Given the description of an element on the screen output the (x, y) to click on. 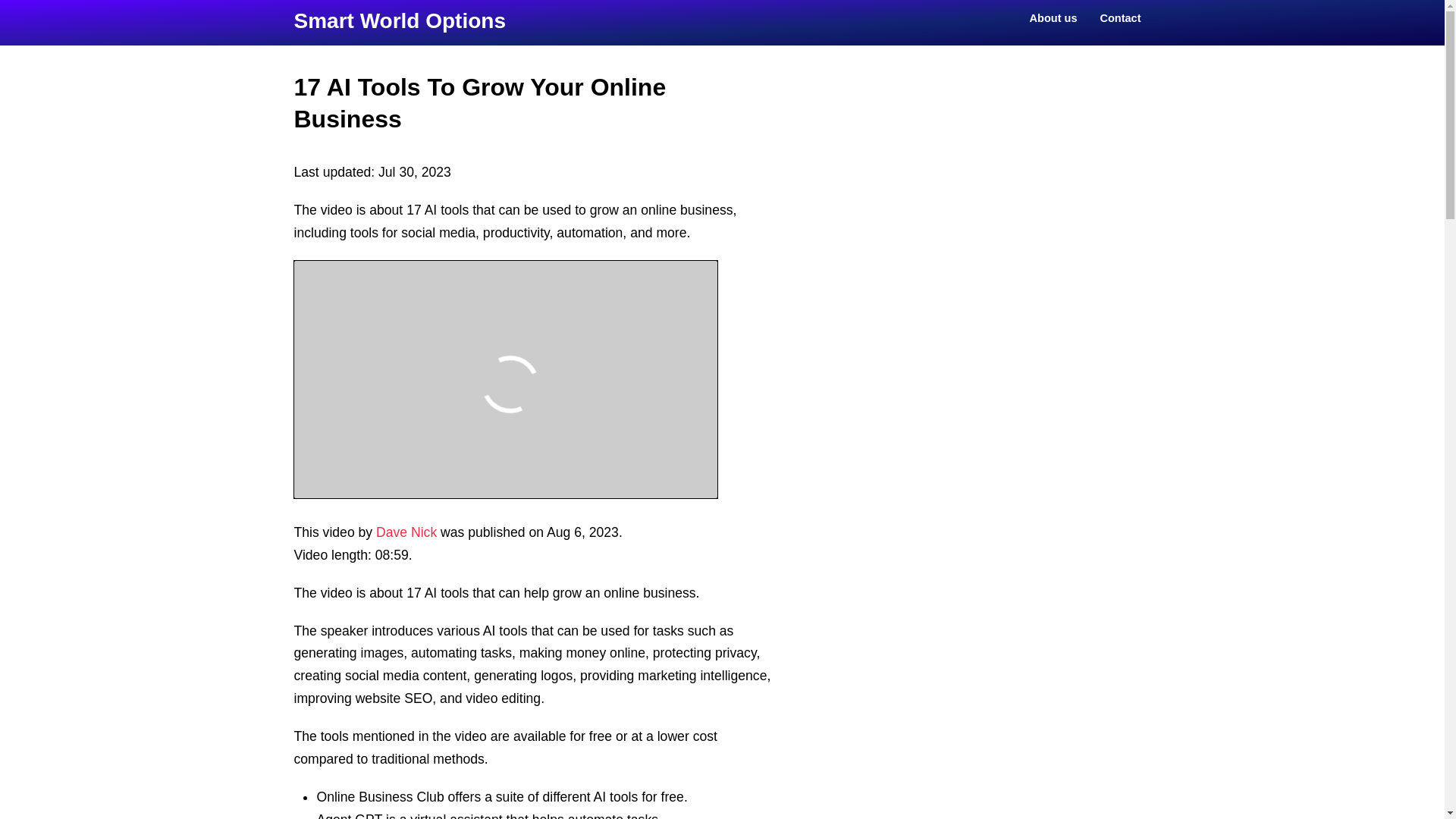
Dave Nick (405, 531)
Contact (1118, 17)
Smart World Options (399, 20)
About us (1051, 17)
YouTube video player (505, 379)
